Given the description of an element on the screen output the (x, y) to click on. 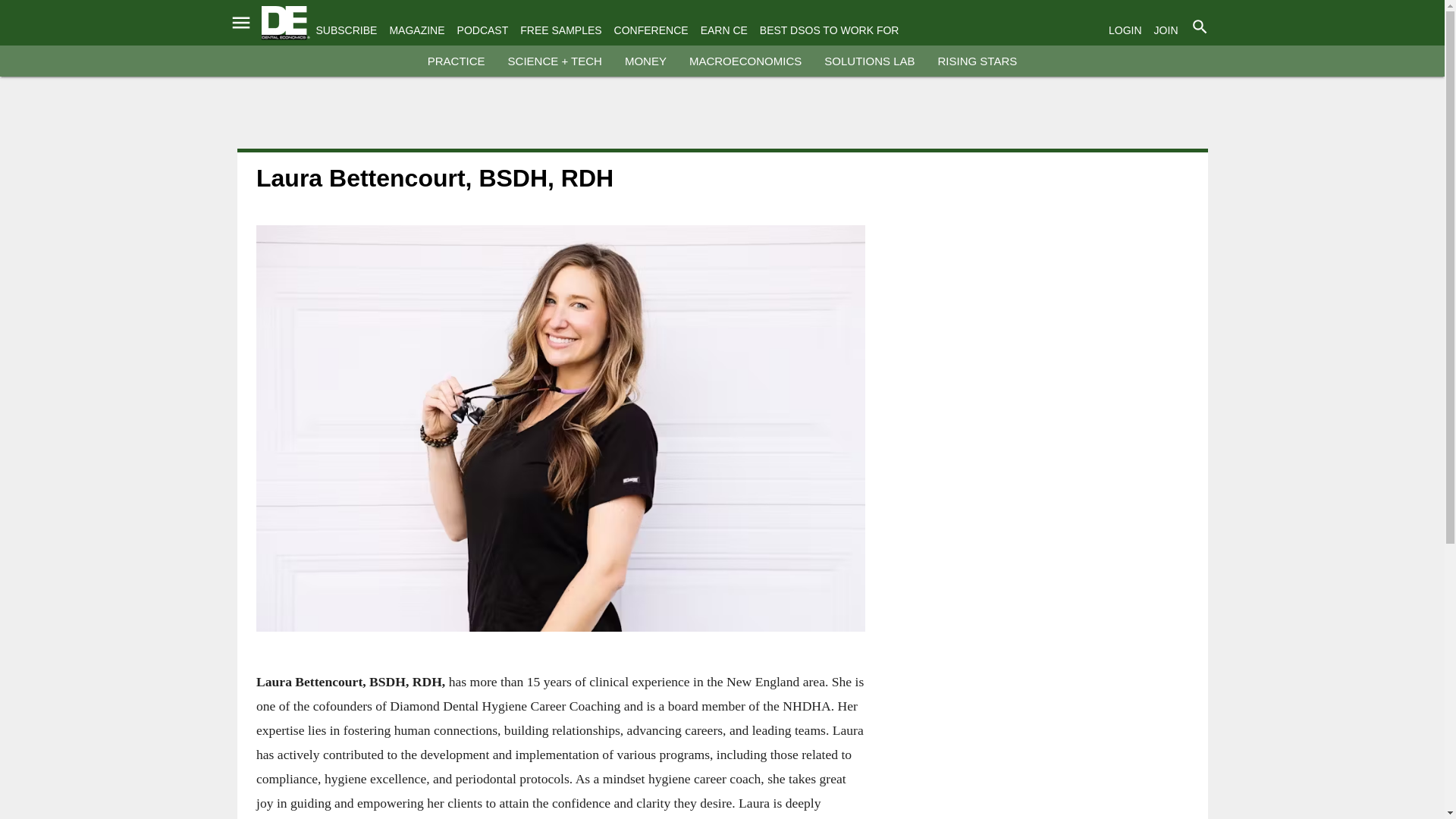
PRACTICE (456, 60)
MONEY (645, 60)
RISING STARS (976, 60)
FREE SAMPLES (560, 30)
JOIN (1165, 30)
MAGAZINE (416, 30)
EARN CE (724, 30)
SUBSCRIBE (346, 30)
BEST DSOS TO WORK FOR (829, 30)
